Given the description of an element on the screen output the (x, y) to click on. 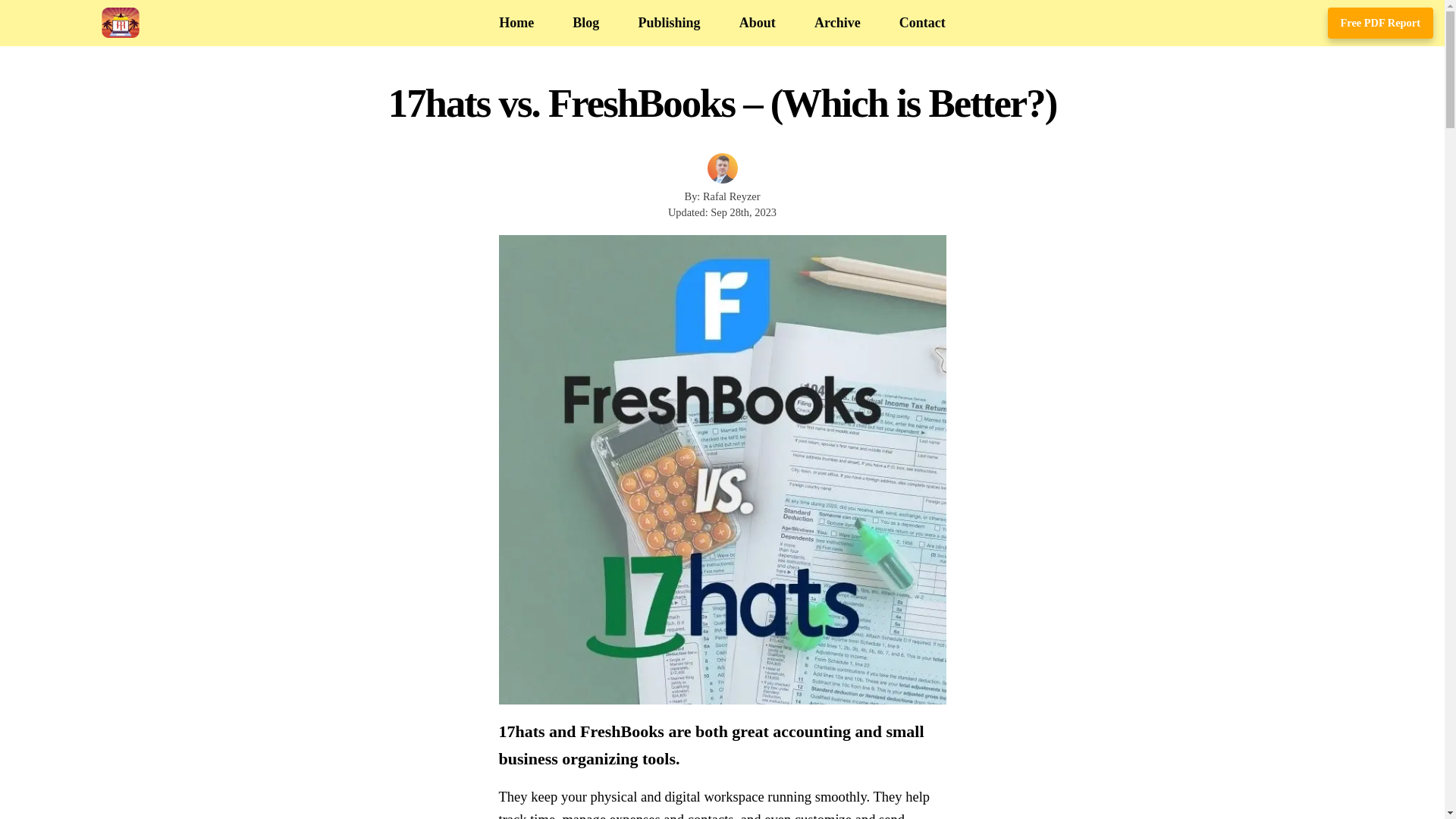
Publishing (668, 22)
About (757, 22)
Blog (585, 22)
Free PDF Report (1379, 22)
Archive (837, 22)
Contact (922, 22)
Home (516, 22)
